Given the description of an element on the screen output the (x, y) to click on. 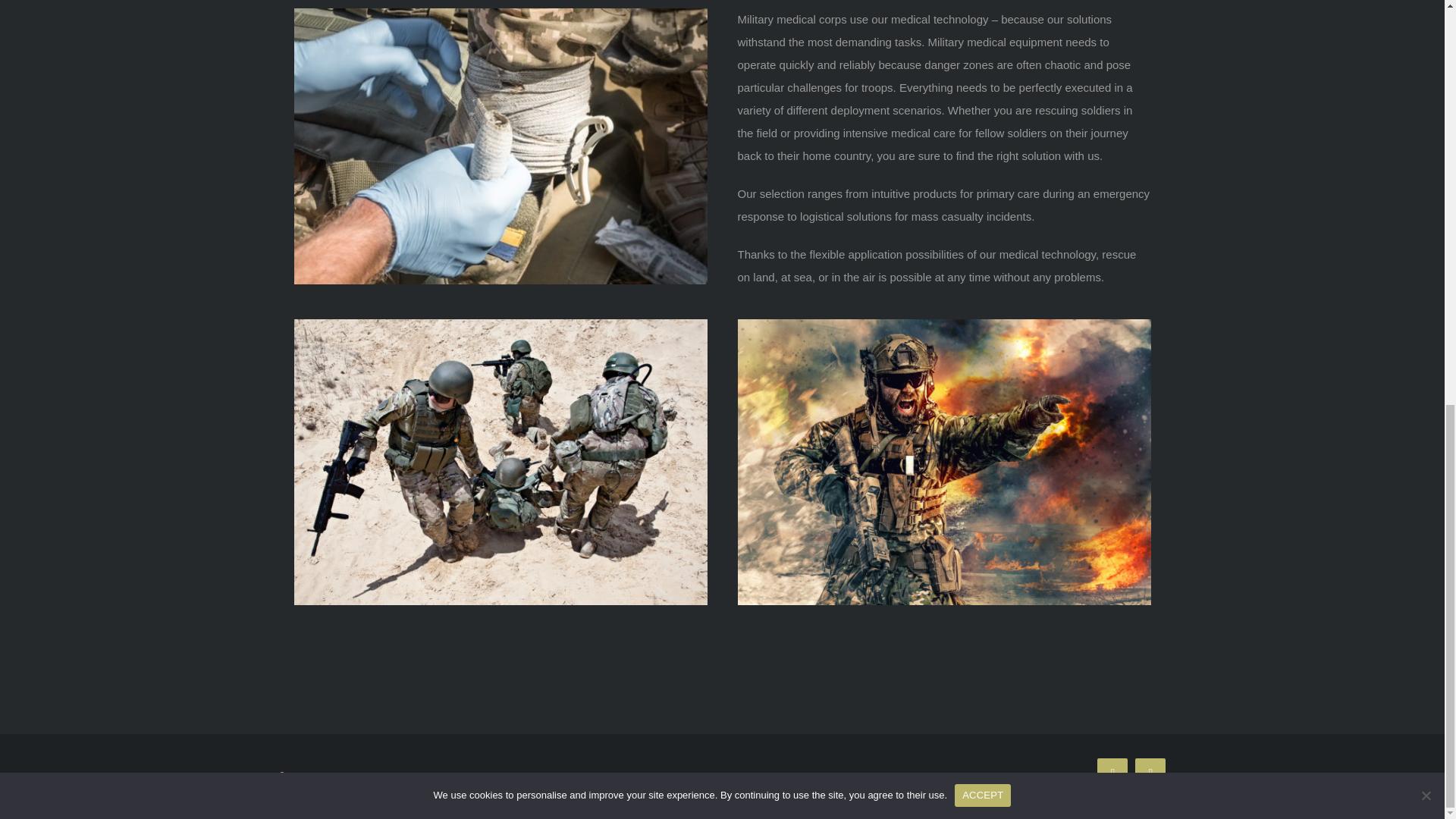
No one gets left behind (500, 324)
ACCEPT (982, 3)
Bandaging the damdged hand of a Ukrainian soldier, close-up. (500, 13)
